Given the description of an element on the screen output the (x, y) to click on. 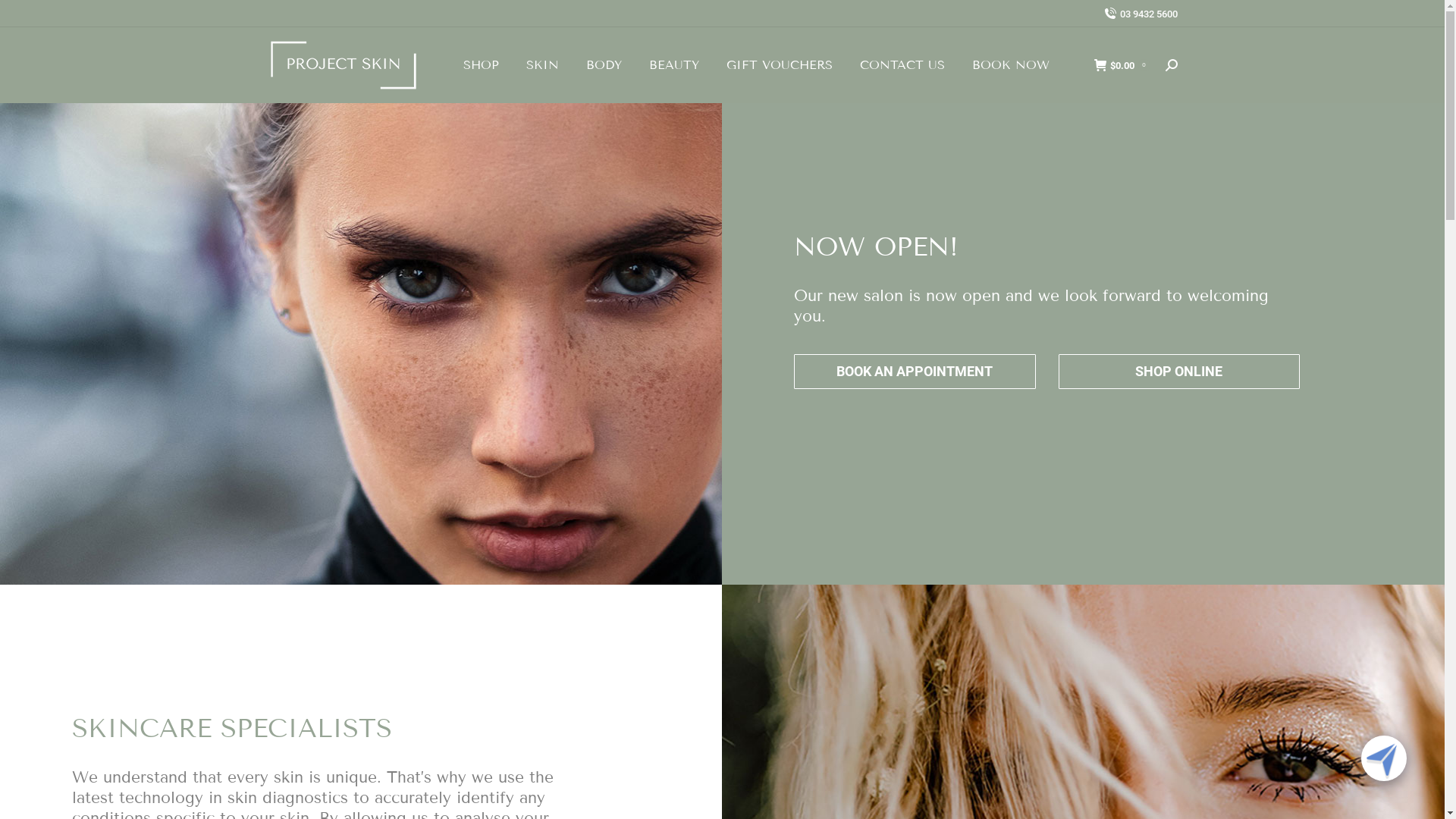
SKIN Element type: text (542, 64)
CONTACT US Element type: text (901, 64)
BODY Element type: text (603, 64)
BEAUTY Element type: text (674, 64)
BOOK AN APPOINTMENT Element type: text (914, 371)
SHOP ONLINE Element type: text (1178, 371)
$0.00
0 Element type: text (1121, 65)
BOOK NOW Element type: text (1010, 64)
GIFT VOUCHERS Element type: text (779, 64)
Go! Element type: text (23, 16)
SHOP Element type: text (481, 64)
